Given the description of an element on the screen output the (x, y) to click on. 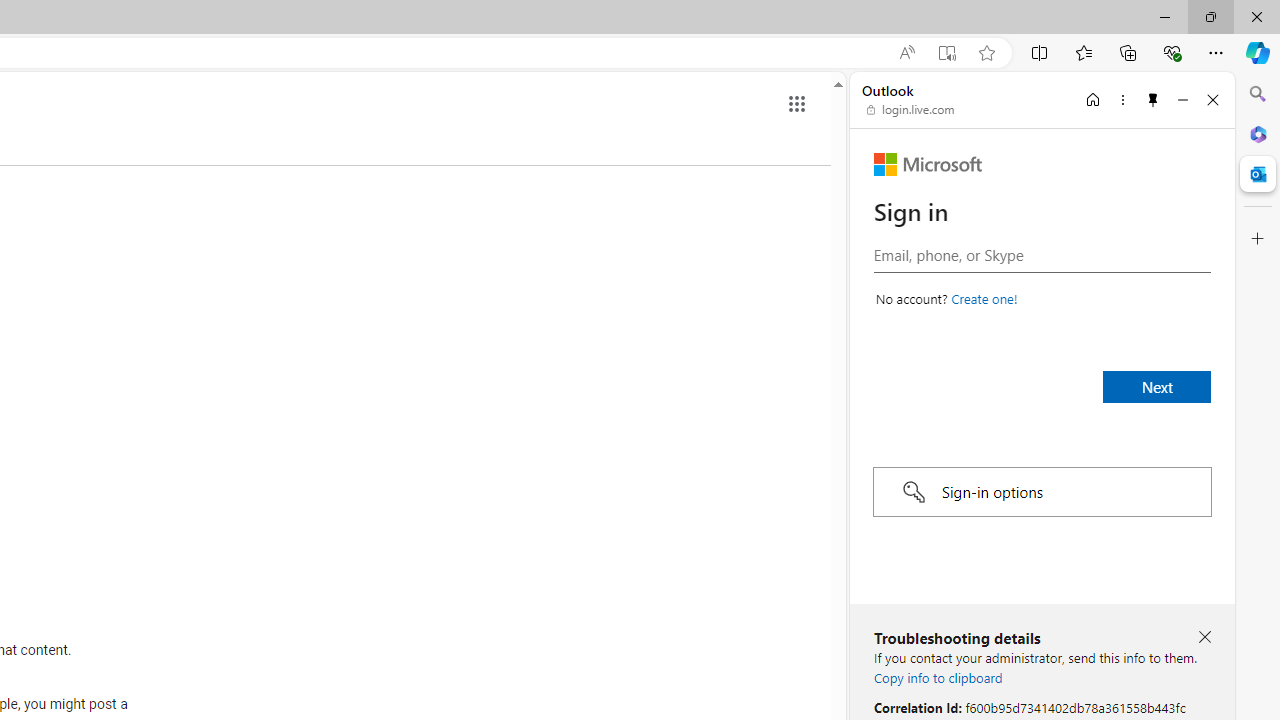
Close troubleshooting details (1204, 636)
Microsoft (927, 164)
Sign-in options (1042, 492)
Home (1093, 99)
Close Outlook pane (1258, 174)
login.live.com (911, 110)
Create a Microsoft account (984, 298)
Enter Immersive Reader (F9) (946, 53)
Close Search pane (1258, 94)
